Given the description of an element on the screen output the (x, y) to click on. 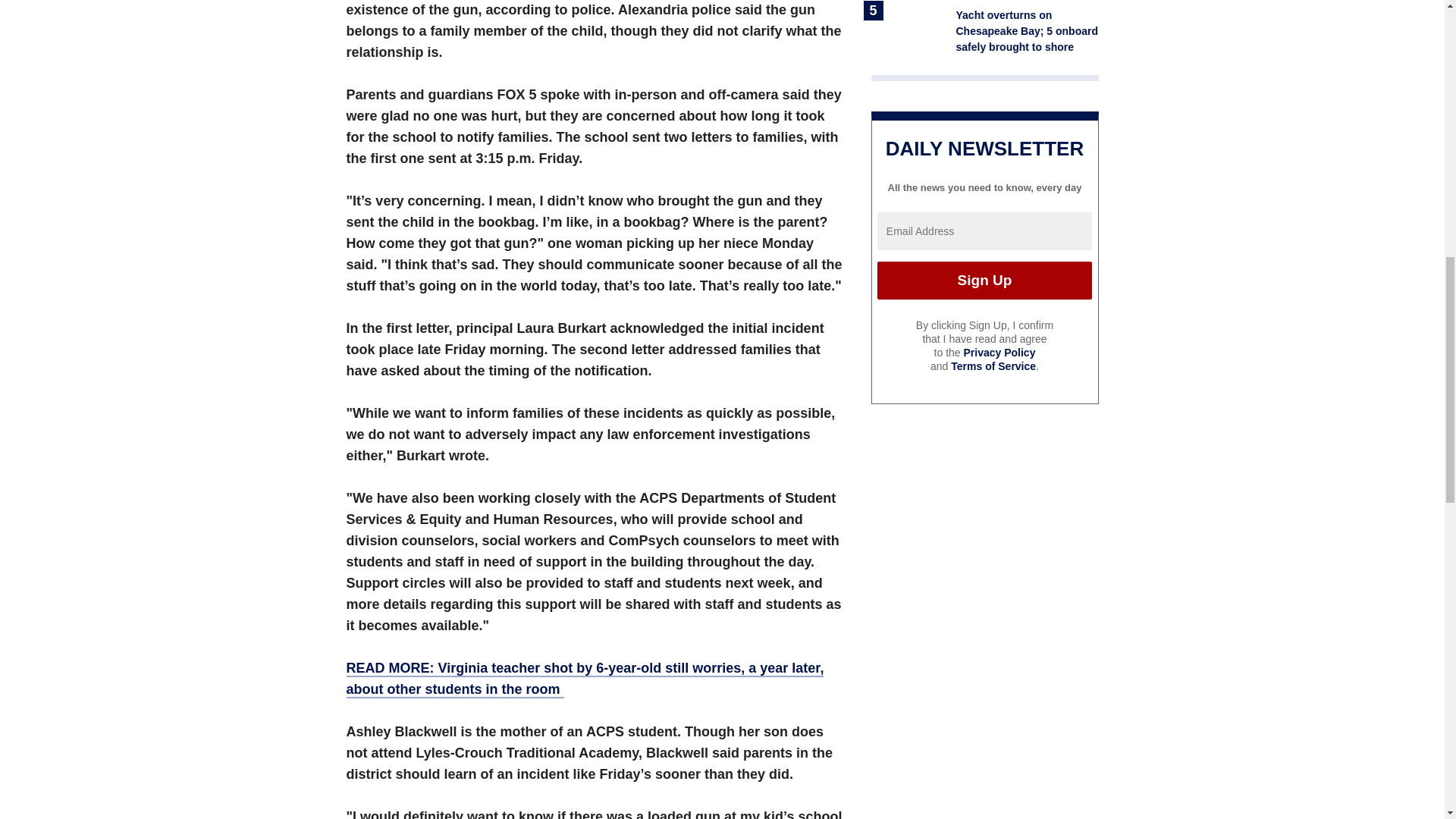
Sign Up (984, 280)
